Given the description of an element on the screen output the (x, y) to click on. 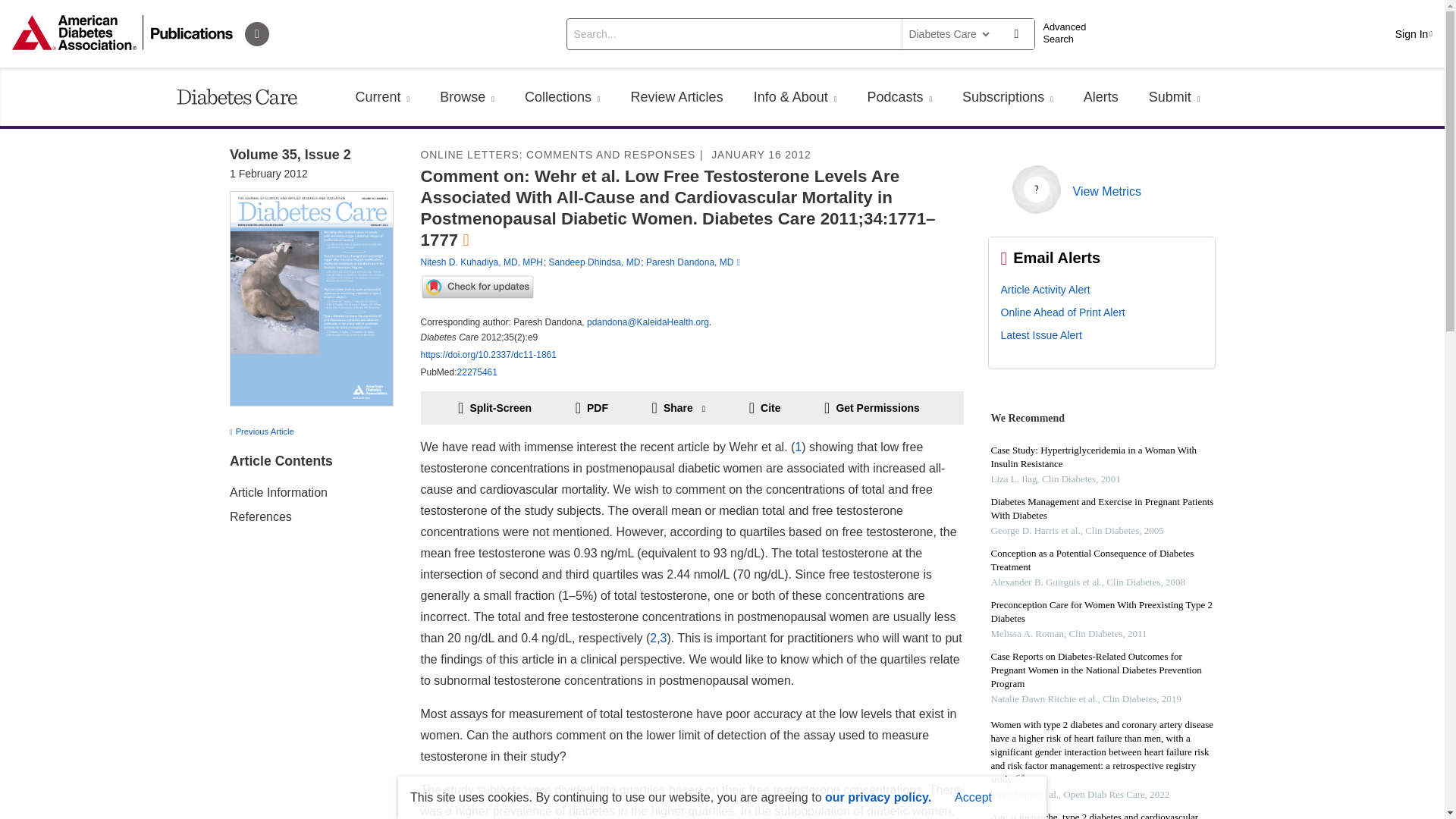
search input (732, 33)
References (259, 516)
Collections (562, 97)
Open Access (465, 239)
Article Information (277, 492)
Browse (467, 97)
Sign In (1413, 33)
Advanced Search (1069, 33)
Current (382, 97)
